Given the description of an element on the screen output the (x, y) to click on. 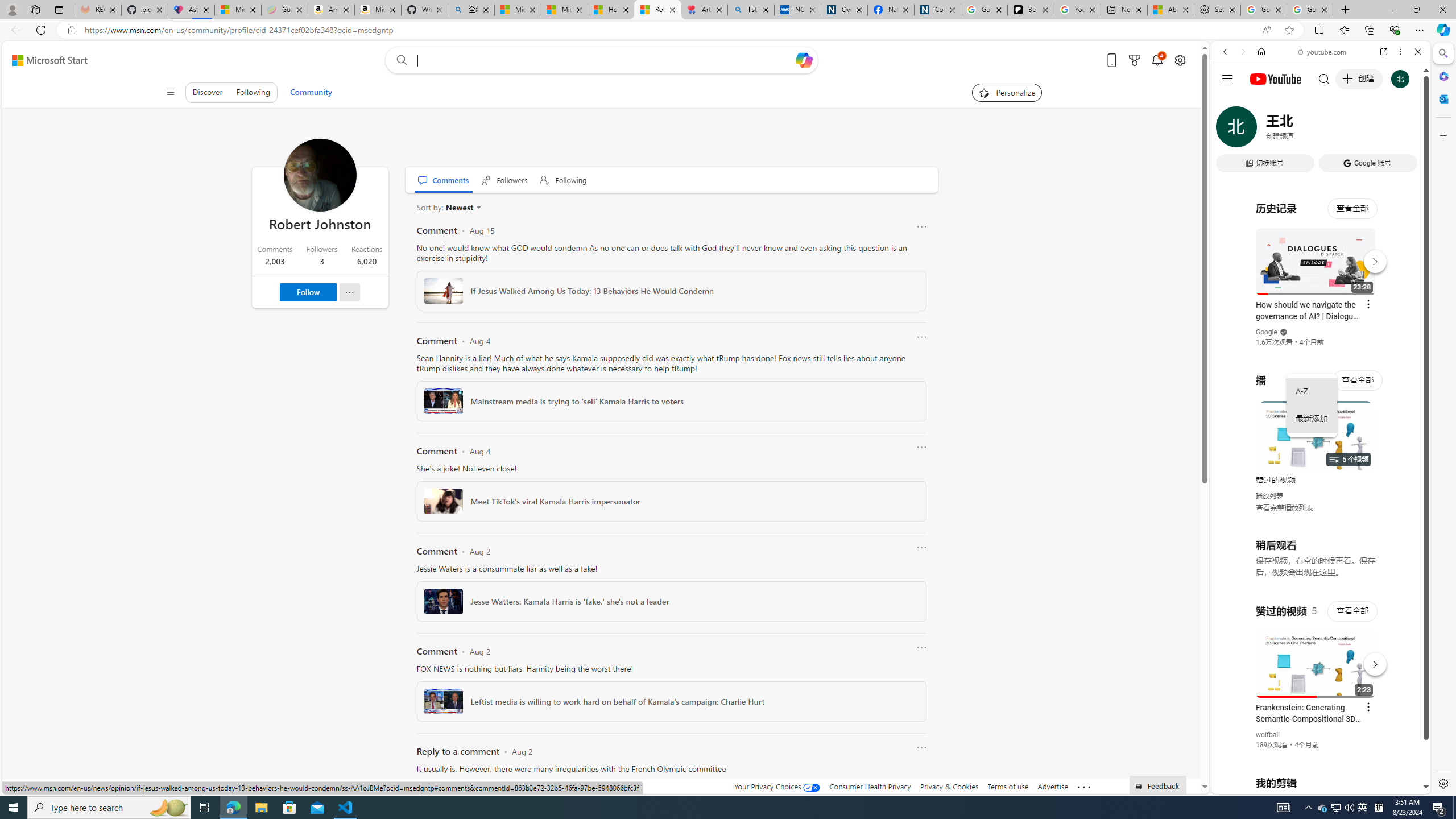
wolfball (1268, 734)
